Given the description of an element on the screen output the (x, y) to click on. 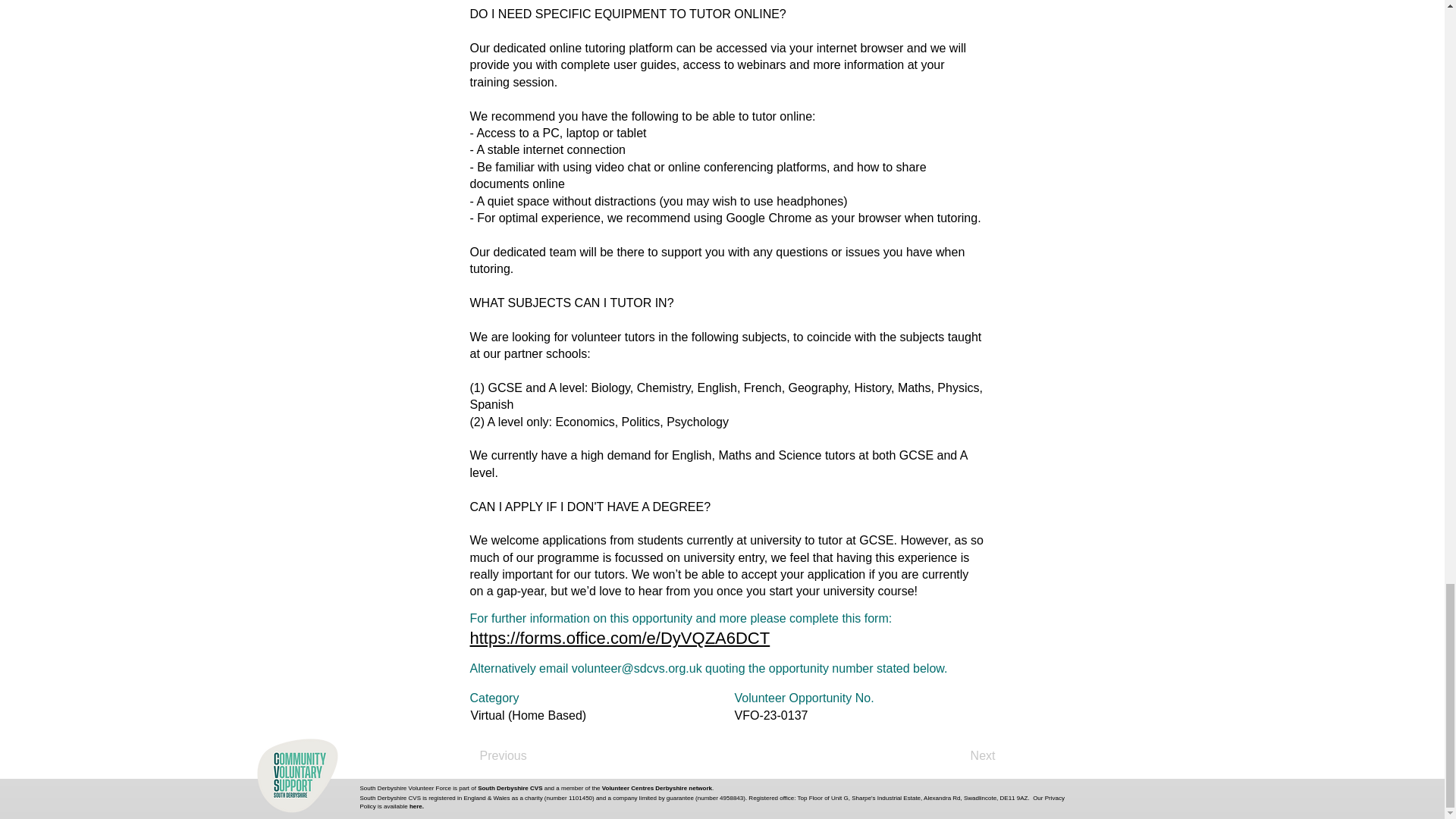
Next (956, 756)
Previous (529, 756)
